Given the description of an element on the screen output the (x, y) to click on. 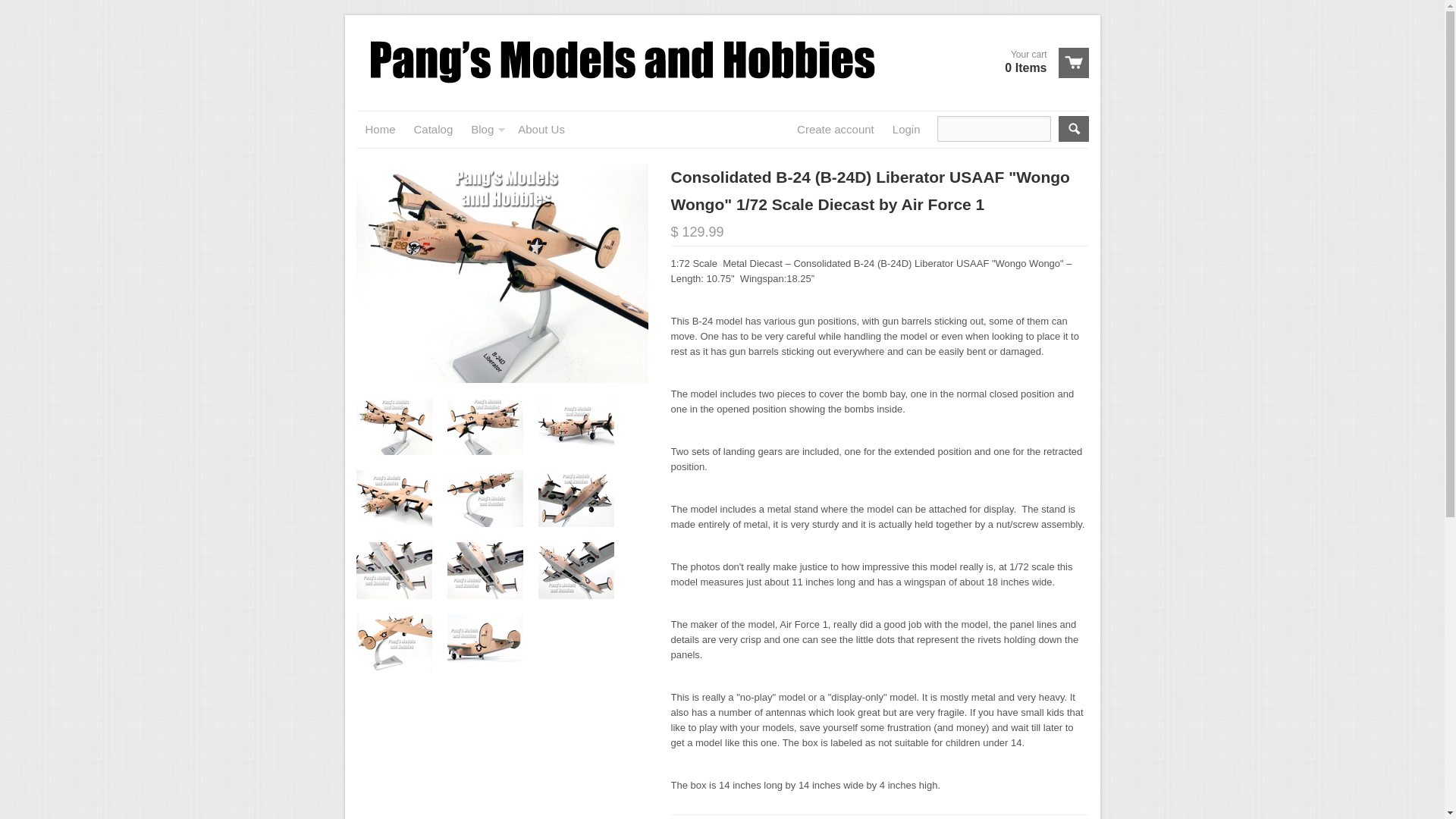
Create account (835, 129)
Go (1073, 128)
Home (380, 129)
About Us (540, 129)
Go (1073, 128)
Catalog (1039, 62)
Login (433, 129)
Blog (906, 129)
